Given the description of an element on the screen output the (x, y) to click on. 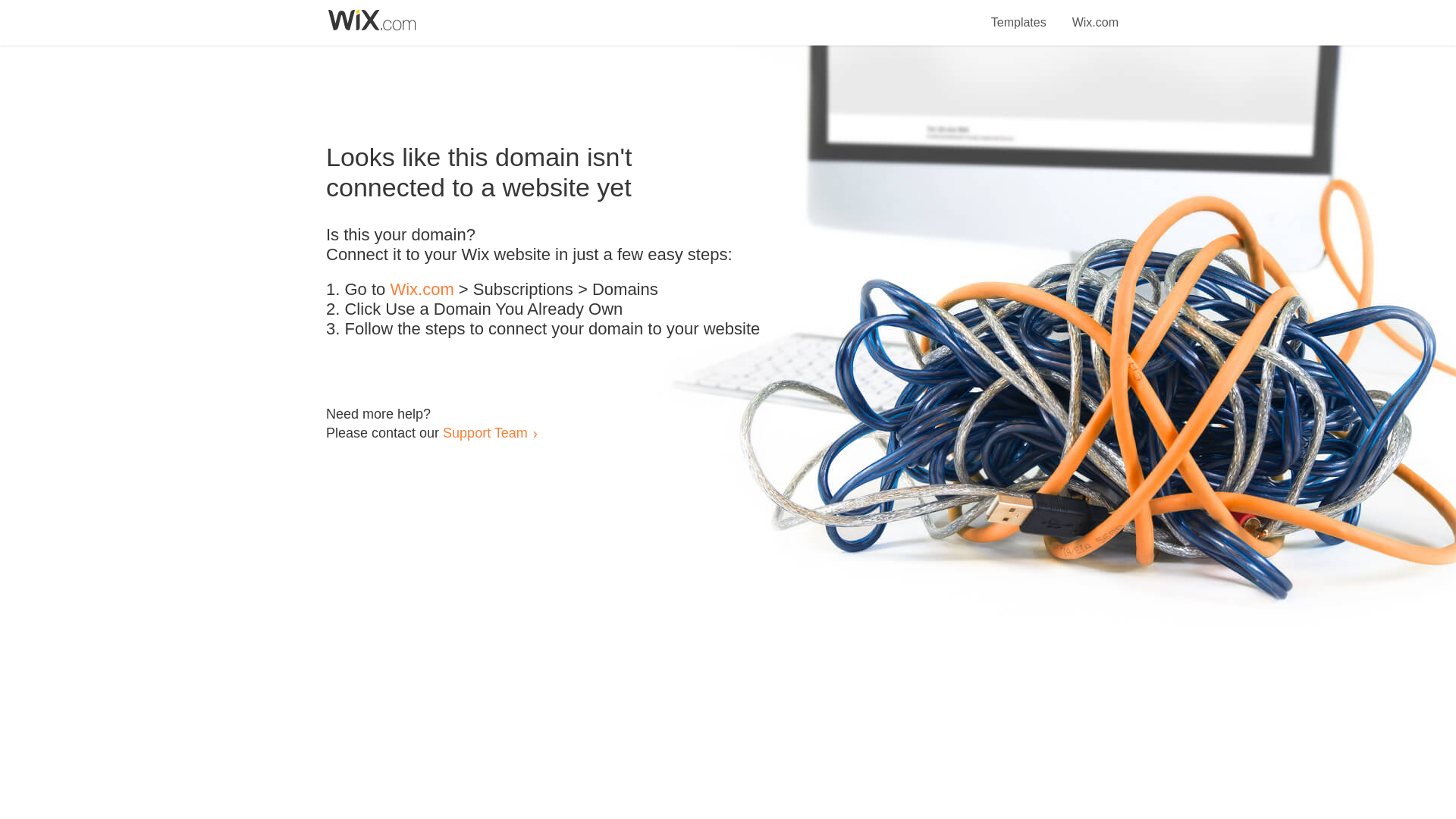
Wix.com (421, 289)
Templates (1018, 14)
Wix.com (1095, 14)
Support Team (484, 432)
